Given the description of an element on the screen output the (x, y) to click on. 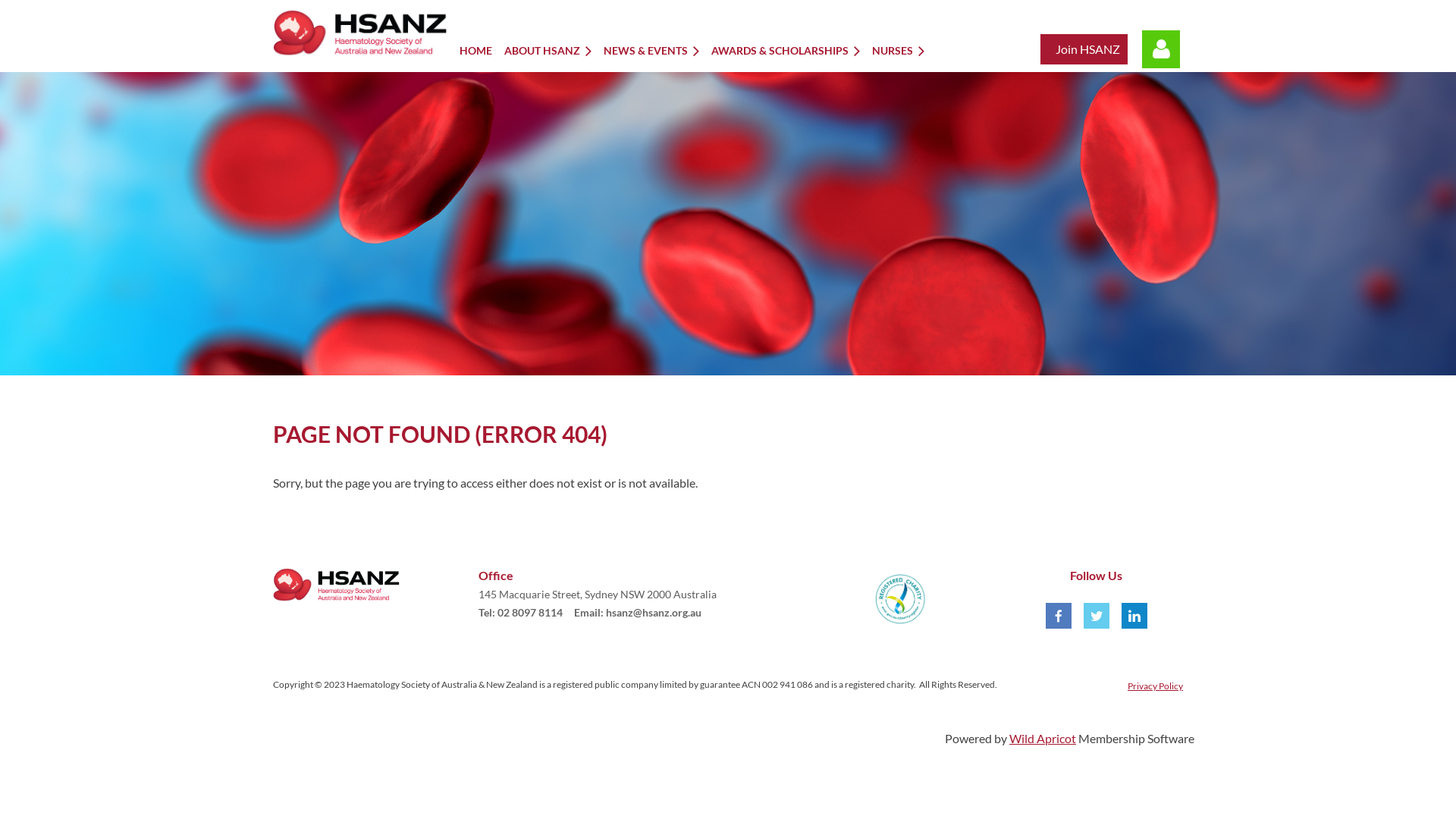
ABOUT HSANZ Element type: text (553, 50)
NURSES Element type: text (904, 50)
Facebook Element type: hover (1058, 615)
Wild Apricot Element type: text (1042, 738)
Join HSANZ Element type: text (1087, 49)
NEWS & EVENTS Element type: text (657, 50)
Twitter Element type: hover (1096, 615)
Privacy Policy Element type: text (1155, 685)
Log in Element type: text (1160, 49)
AWARDS & SCHOLARSHIPS Element type: text (791, 50)
HOME Element type: text (481, 50)
LinkedIn Element type: hover (1134, 615)
